Given the description of an element on the screen output the (x, y) to click on. 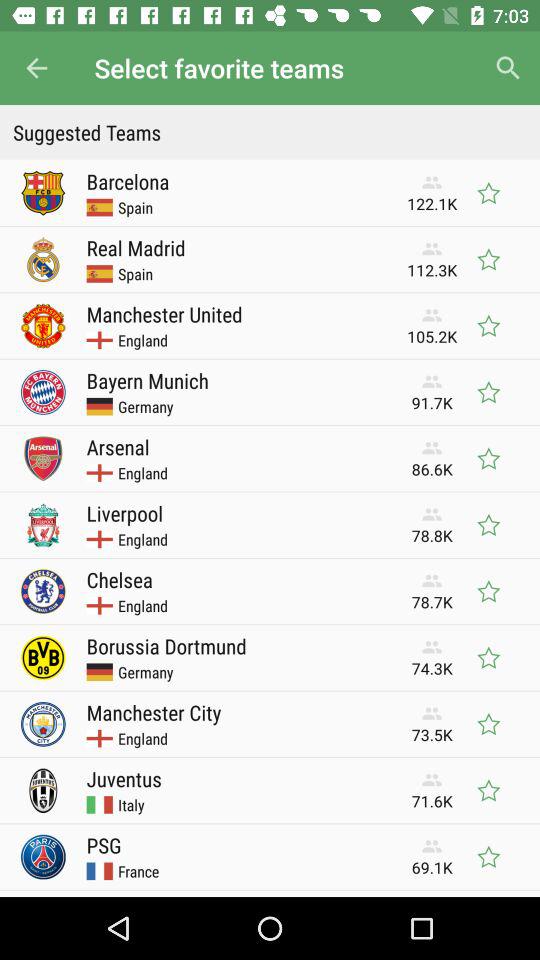
turn off icon next to select favorite teams icon (508, 67)
